Given the description of an element on the screen output the (x, y) to click on. 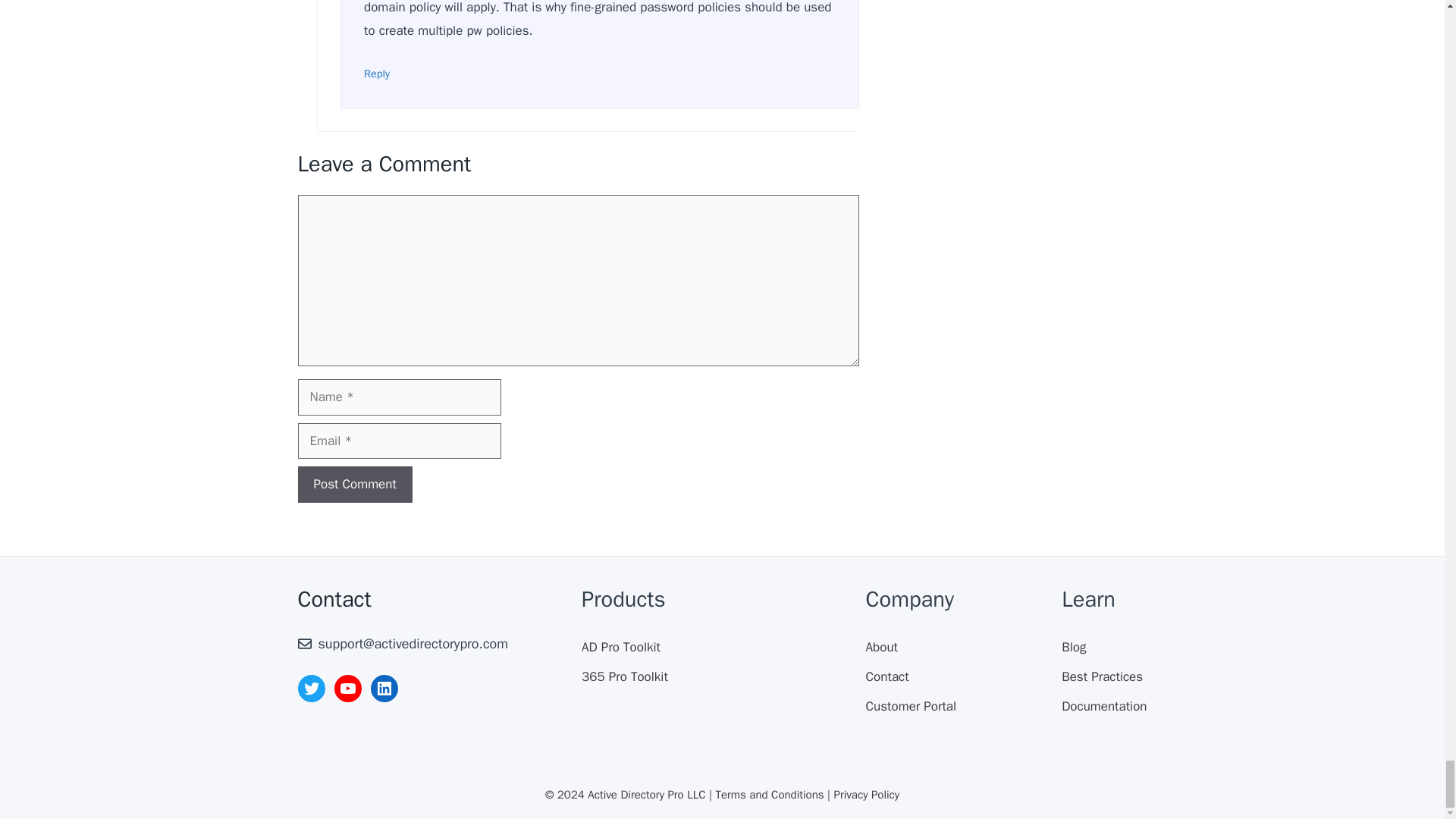
Post Comment (354, 484)
